Given the description of an element on the screen output the (x, y) to click on. 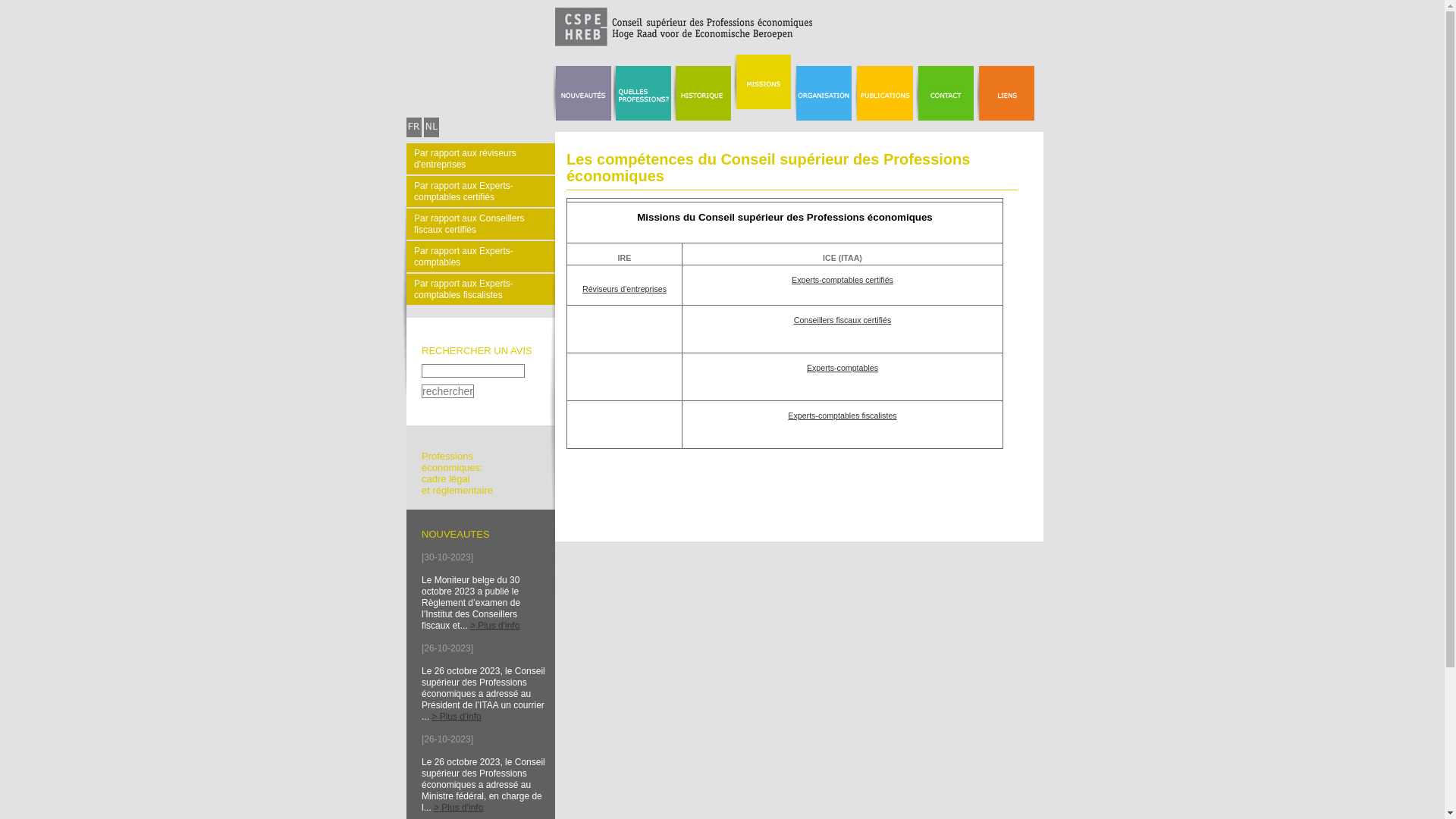
> Plus d'info Element type: text (455, 716)
Experts-comptables fiscalistes Element type: text (841, 415)
> Plus d'info Element type: text (494, 625)
Accueil Element type: hover (610, 42)
> Plus d'info Element type: text (458, 807)
Par rapport aux Experts-comptables fiscalistes Element type: text (480, 288)
Experts-comptables Element type: text (842, 367)
rechercher Element type: text (447, 391)
Par rapport aux Experts-comptables Element type: text (480, 256)
